Given the description of an element on the screen output the (x, y) to click on. 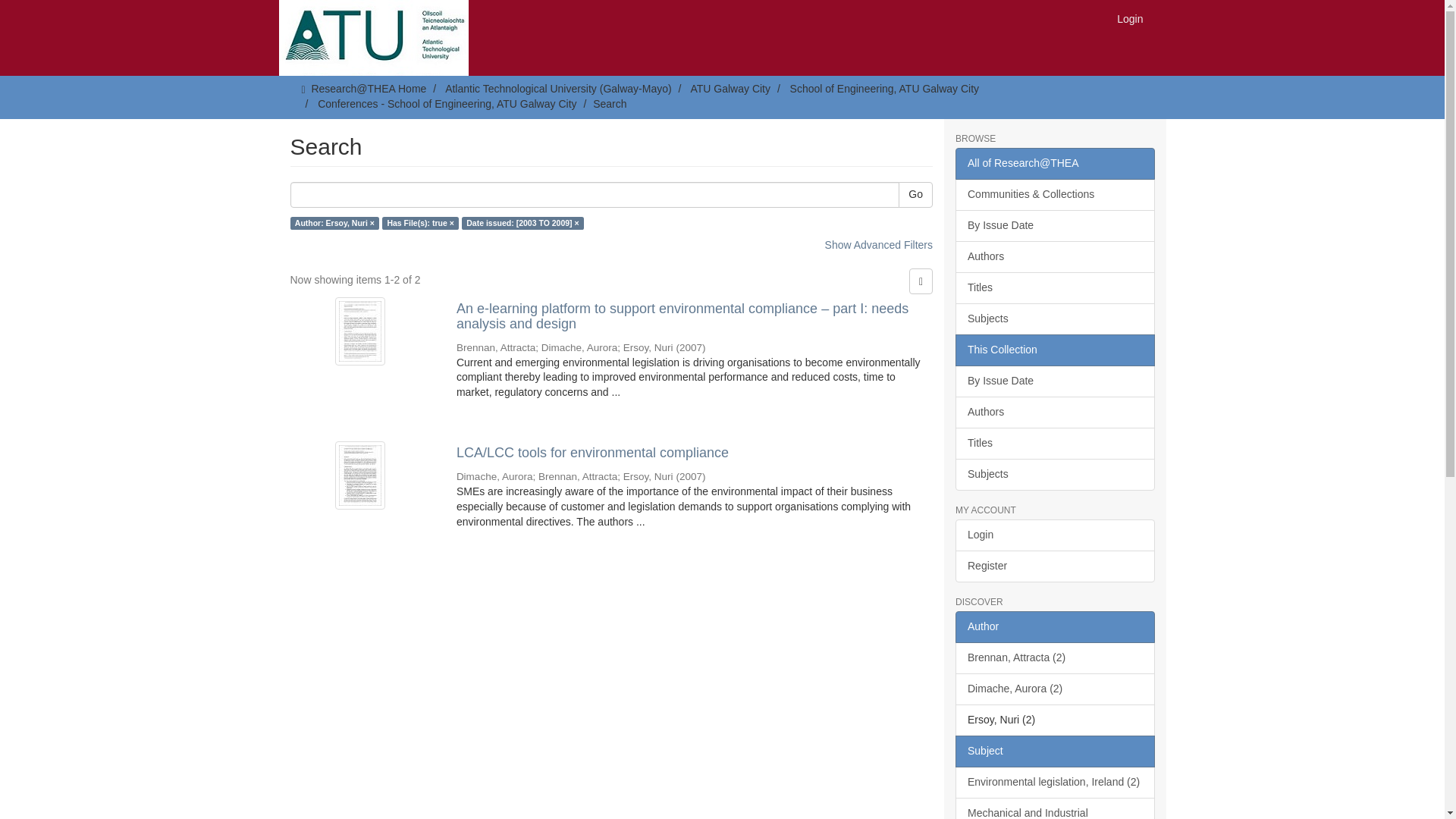
Go (915, 194)
Conferences - School of Engineering, ATU Galway City (446, 103)
Login (1129, 18)
School of Engineering, ATU Galway City (884, 88)
Show Advanced Filters (879, 244)
ATU Galway City (730, 88)
